Given the description of an element on the screen output the (x, y) to click on. 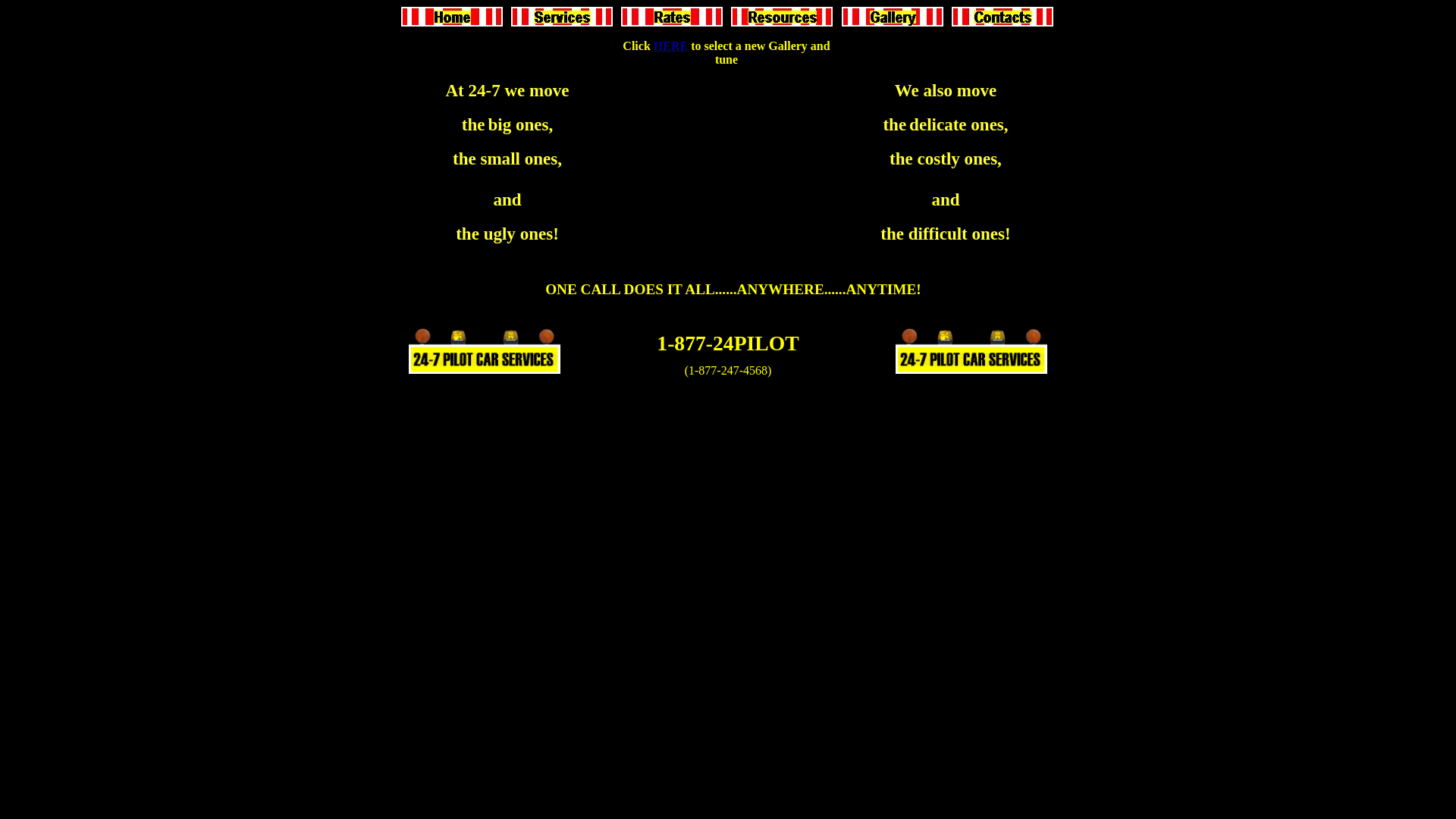
HERE Element type: text (670, 45)
